Given the description of an element on the screen output the (x, y) to click on. 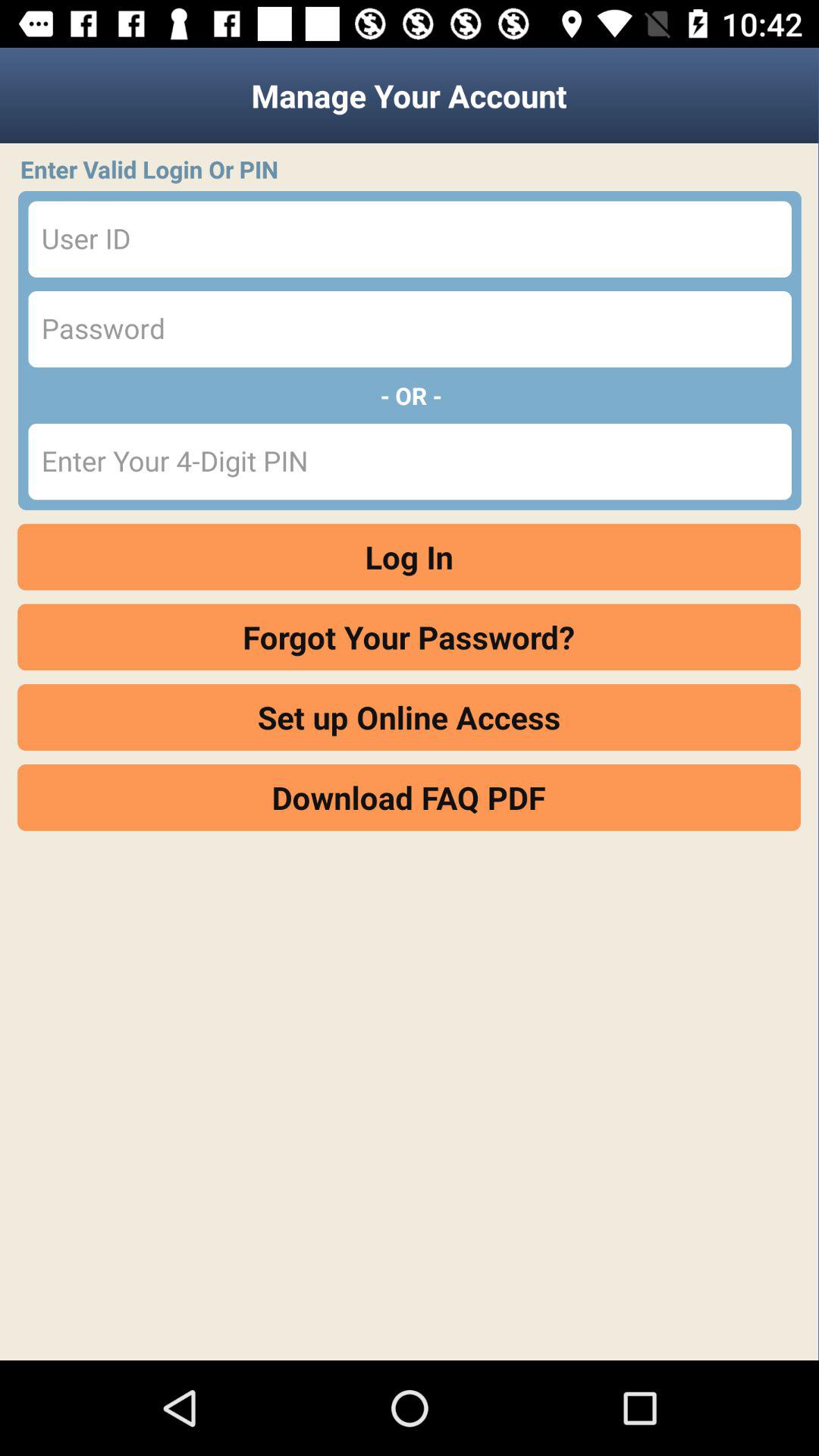
enter password (409, 329)
